Given the description of an element on the screen output the (x, y) to click on. 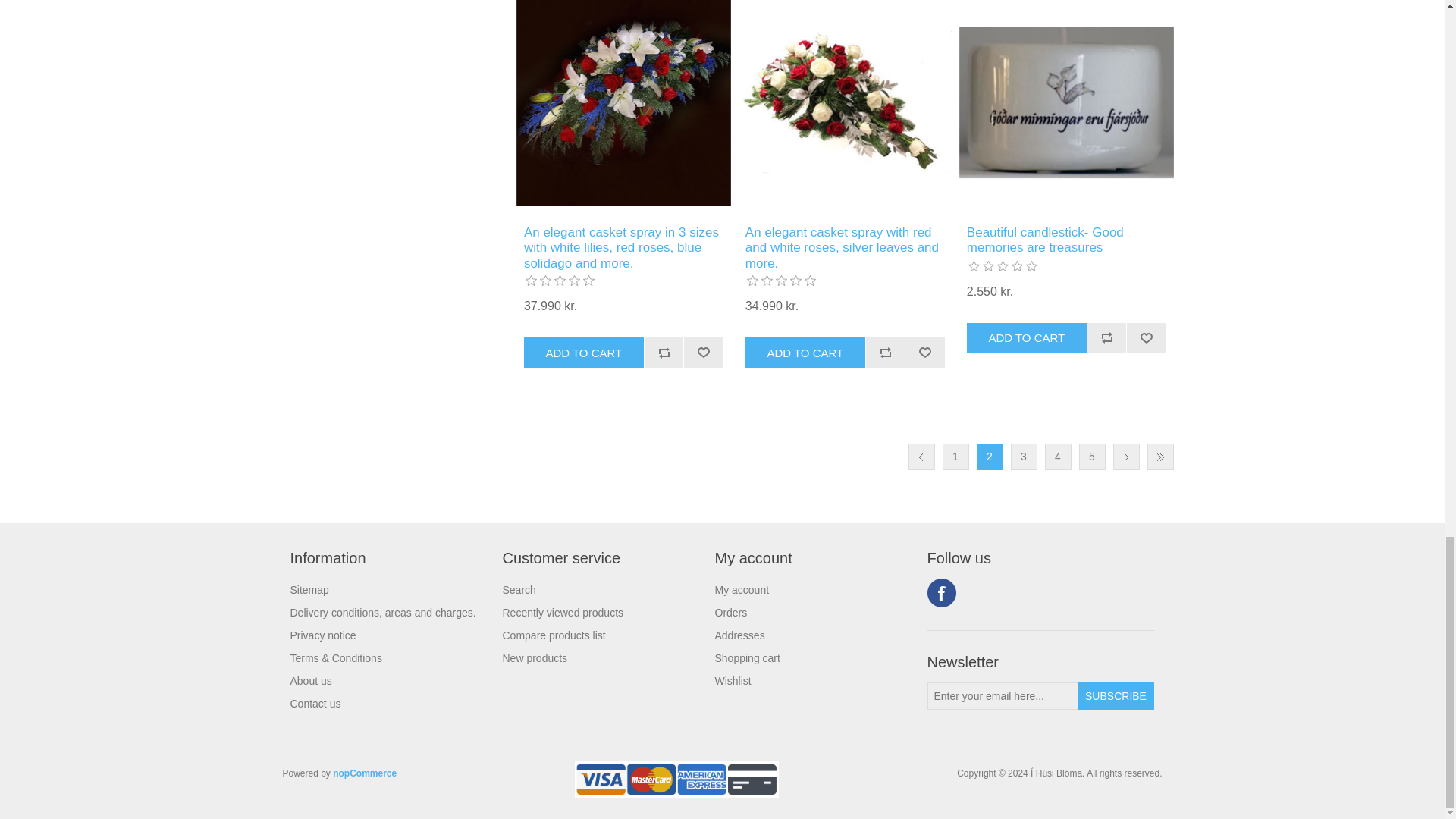
Add to wishlist (1145, 337)
Add to cart (583, 352)
Add to compare list (1106, 337)
Add to cart (1026, 337)
Add to cart (804, 352)
Add to compare list (884, 352)
Add to wishlist (924, 352)
Add to wishlist (702, 352)
Add to compare list (663, 352)
